Given the description of an element on the screen output the (x, y) to click on. 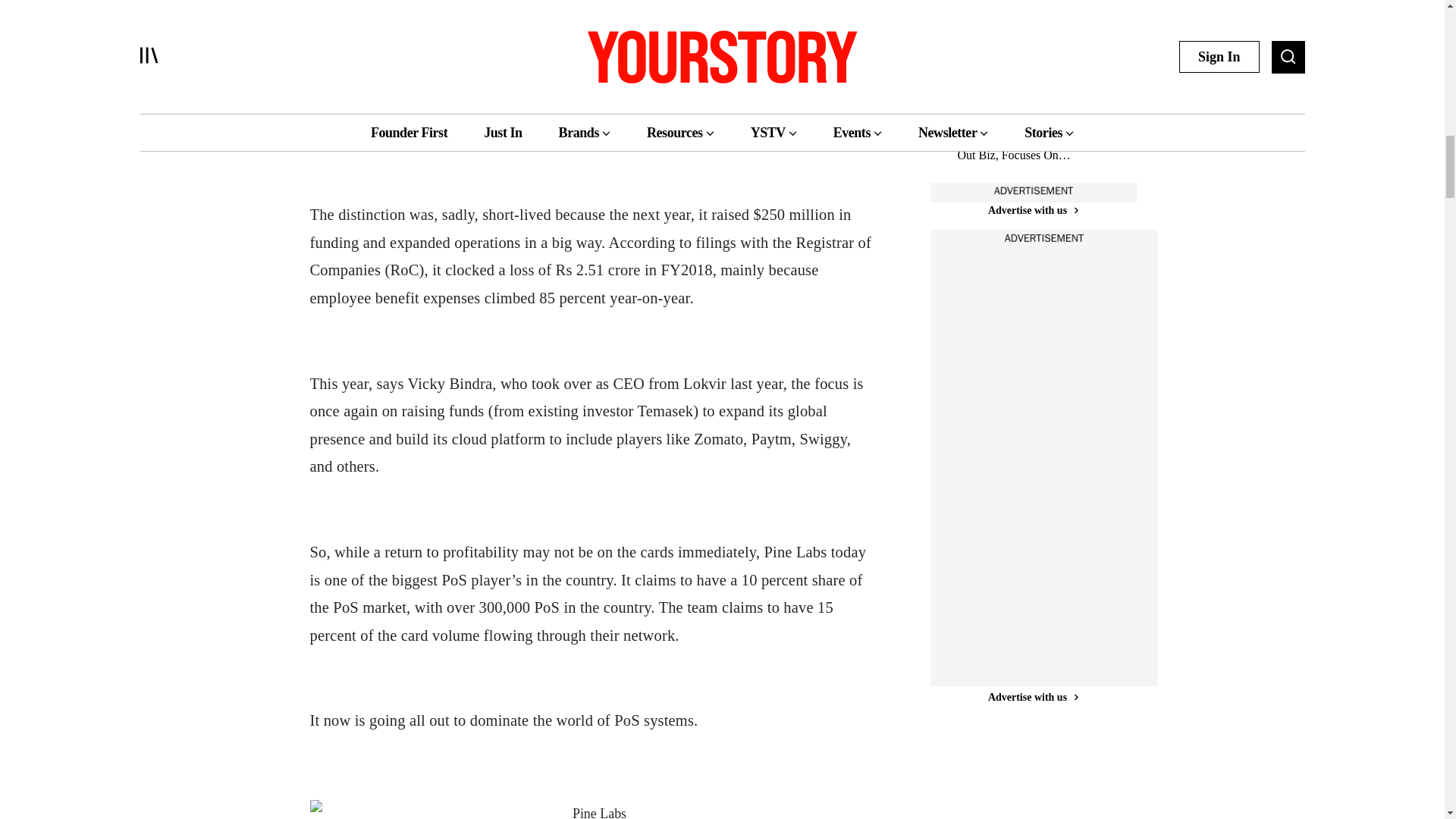
Advertise with us (1032, 697)
FOODTECH (984, 98)
Advertise with us (1032, 210)
